Given the description of an element on the screen output the (x, y) to click on. 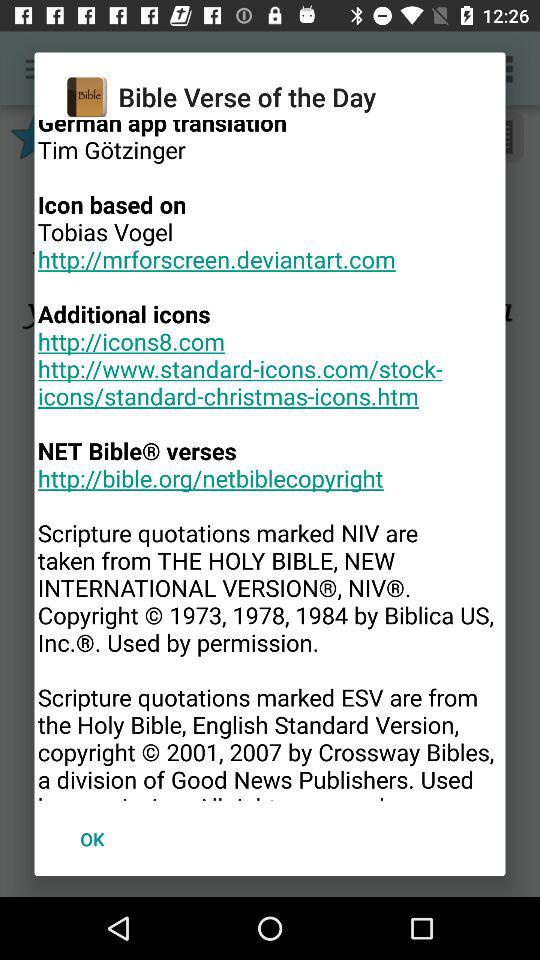
jump until the ok item (92, 838)
